Given the description of an element on the screen output the (x, y) to click on. 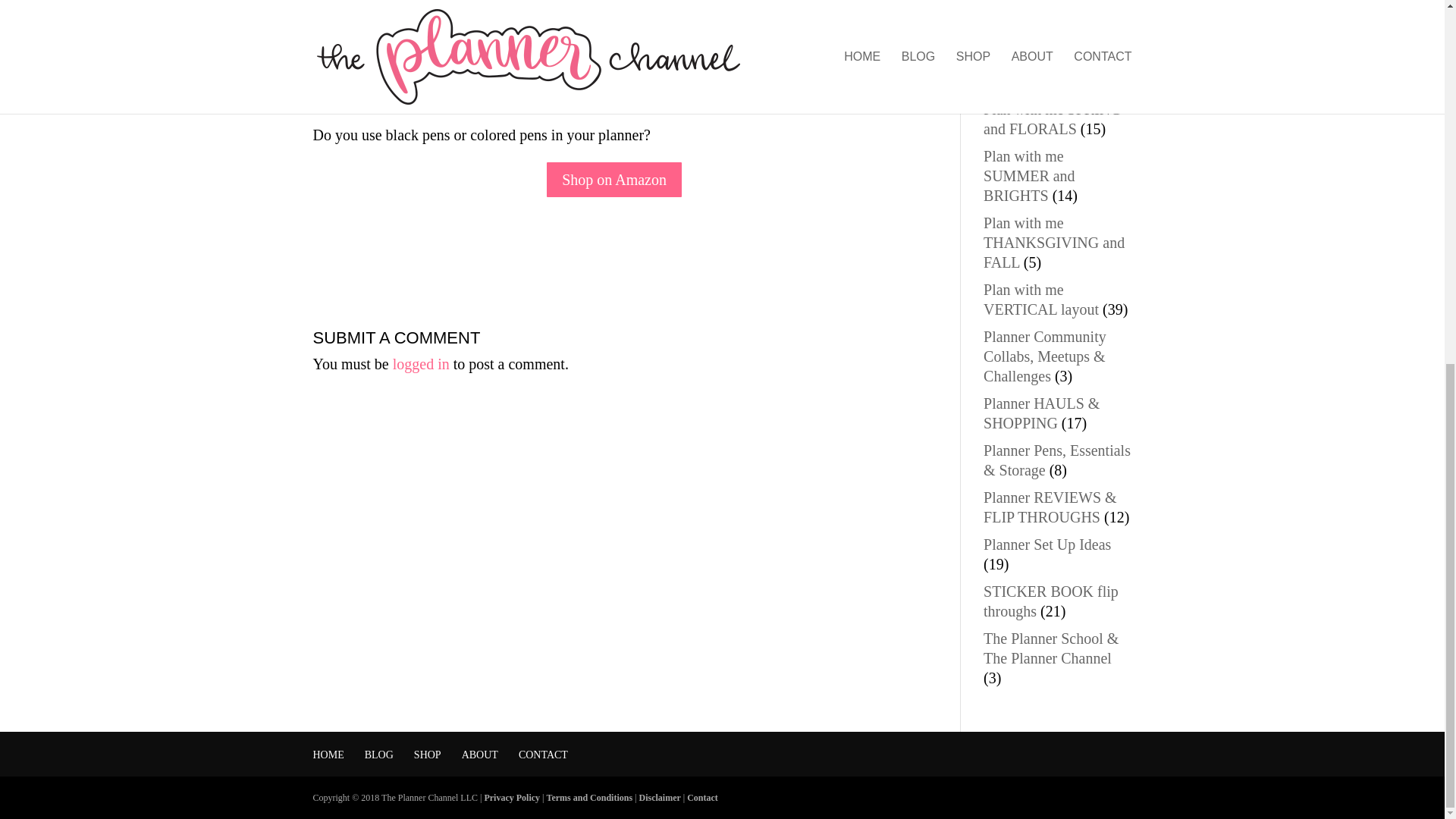
Plan with me MONTHLY layout (1041, 72)
Planner Set Up Ideas (1047, 544)
Plan with me THANKSGIVING and FALL (1054, 242)
STICKER BOOK flip throughs (1051, 601)
Plan with me MINI Happy Planner (1043, 24)
logged in (421, 363)
Plan with me VERTICAL layout (1041, 299)
Plan with me SUMMER and BRIGHTS (1029, 175)
Shop on Amazon (613, 179)
Plan with me SPRING and FLORALS (1052, 118)
HOME (328, 754)
